Given the description of an element on the screen output the (x, y) to click on. 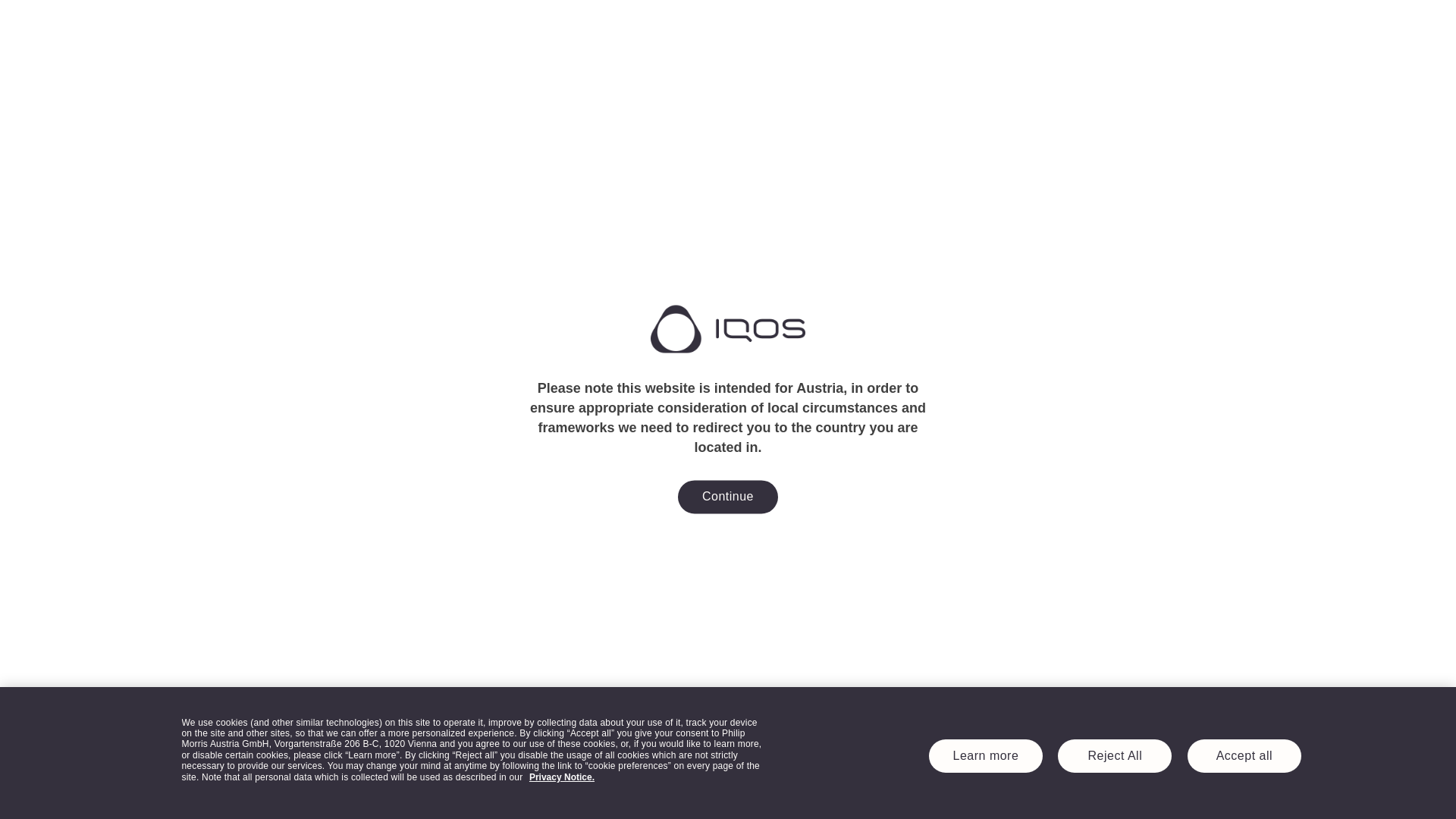
Discover IQOS (323, 28)
Confirm (727, 429)
Cart (1208, 27)
iQOS Start (727, 28)
Continue (727, 497)
Shop (243, 28)
